Given the description of an element on the screen output the (x, y) to click on. 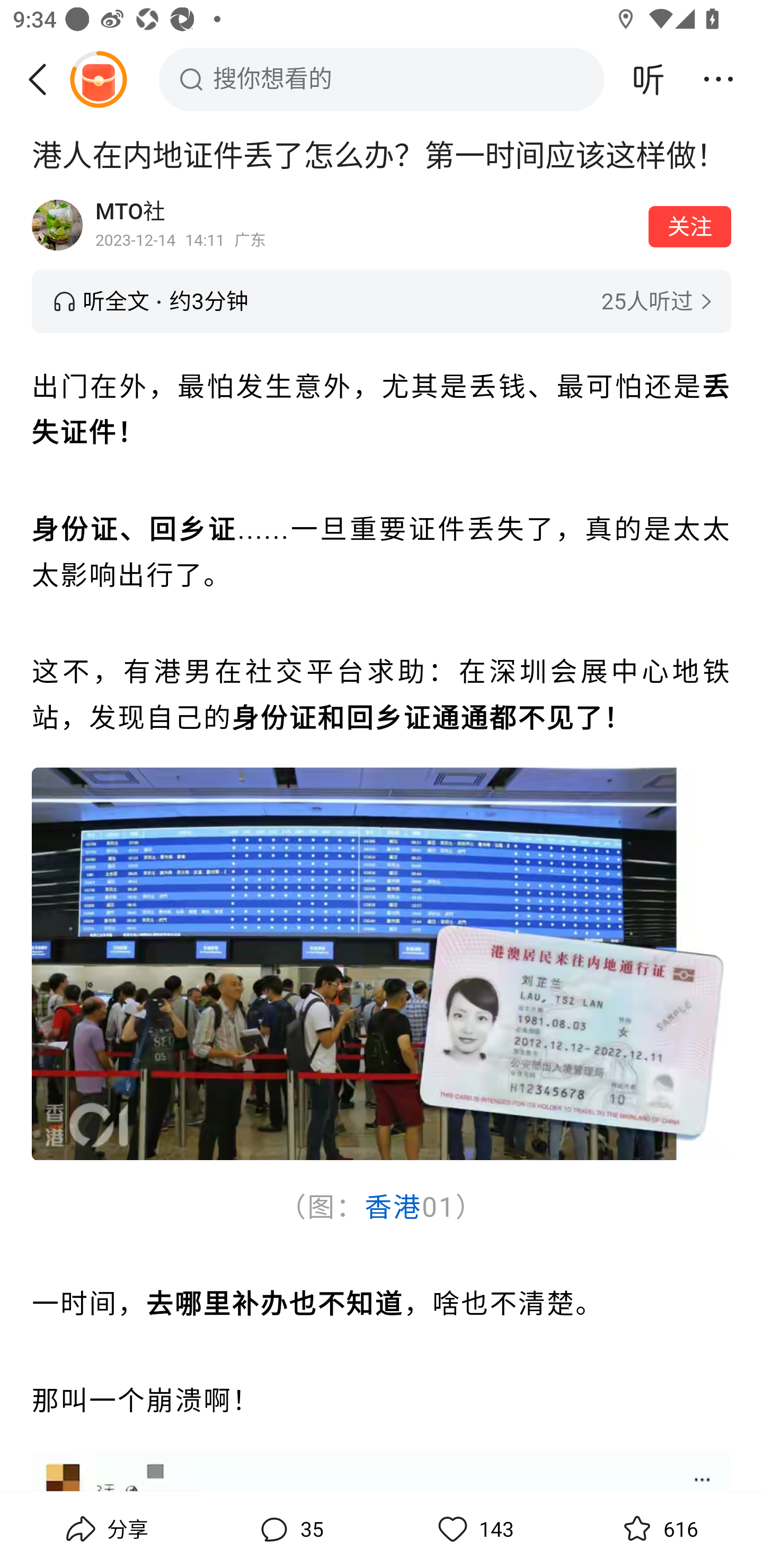
返回 (44, 78)
听头条 (648, 78)
更多操作 (718, 78)
搜你想看的 搜索框，搜你想看的 (381, 79)
阅读赚金币 (98, 79)
作者：MTO社，2023-12-14 14:11发布，广东 (365, 224)
关注作者 (689, 226)
听全文 约3分钟 25人听过 (381, 300)
图片，点击识别内容 (381, 963)
香港 (392, 1207)
分享 (104, 1529)
评论,35 35 (288, 1529)
收藏,616 616 (658, 1529)
